Given the description of an element on the screen output the (x, y) to click on. 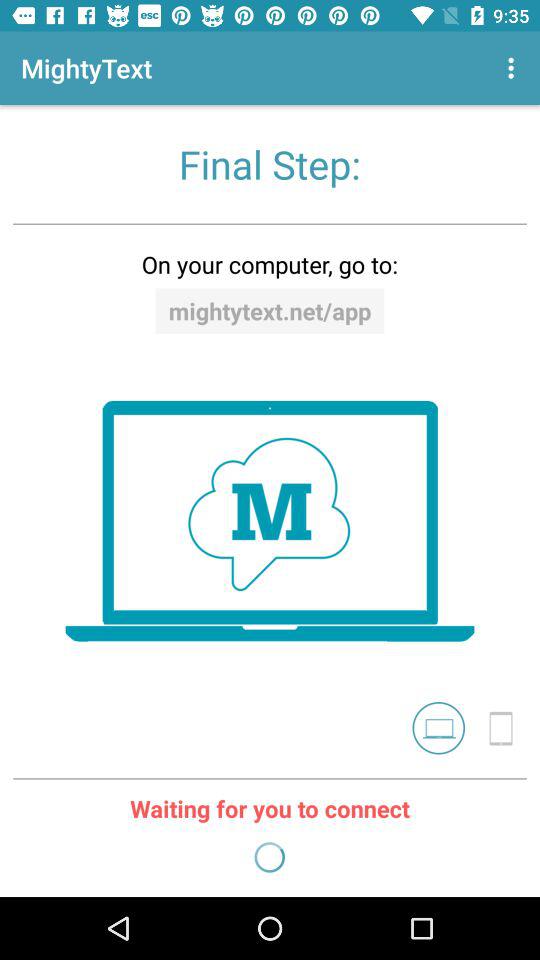
turn on the icon at the top right corner (513, 67)
